Given the description of an element on the screen output the (x, y) to click on. 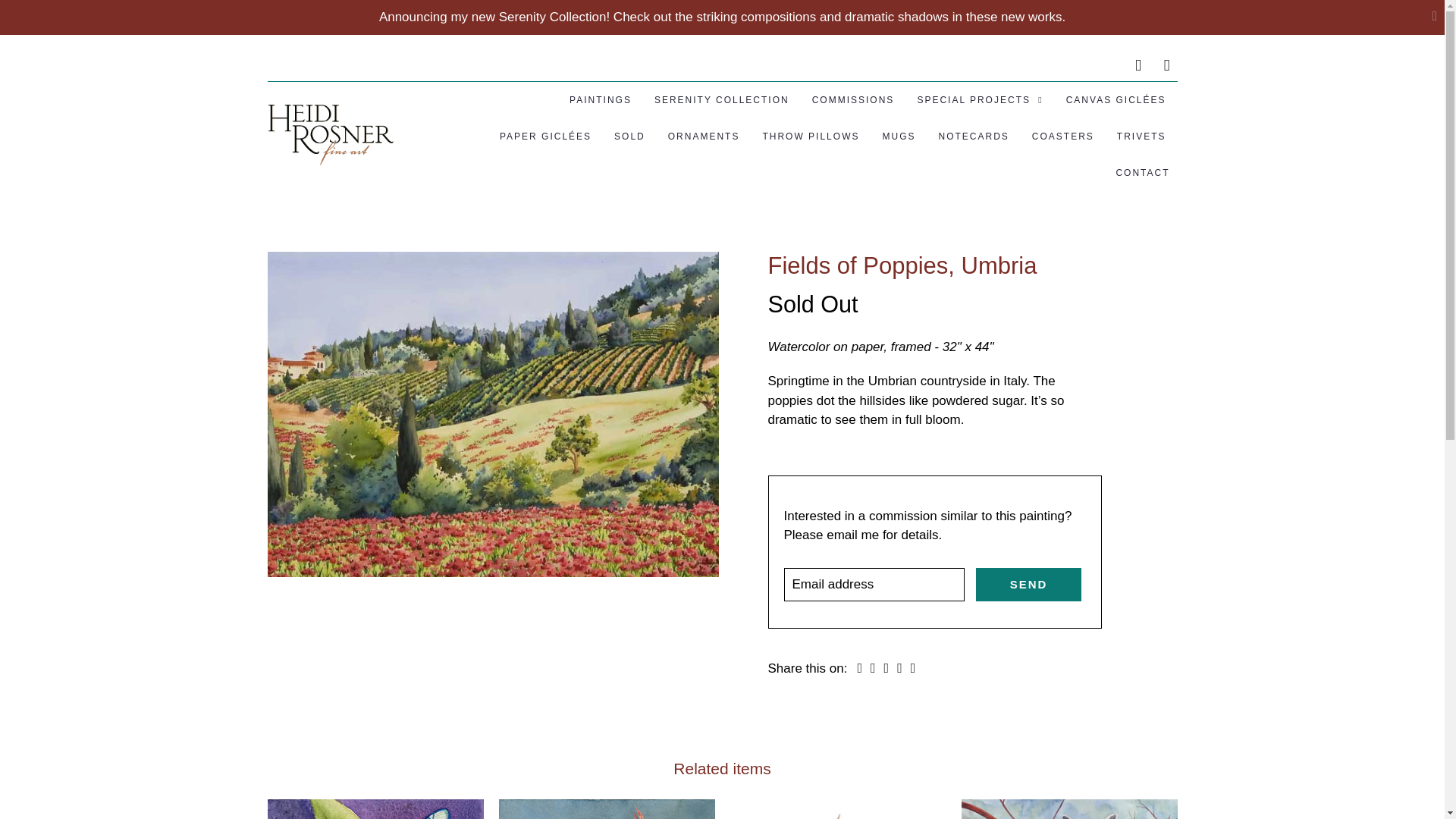
SOLD (629, 135)
COMMISSIONS (853, 99)
PAINTINGS (600, 99)
TRIVETS (1141, 135)
ORNAMENTS (704, 135)
COASTERS (1063, 135)
Share this on Facebook (872, 667)
Search (1137, 65)
Email this to a friend (913, 667)
Share this on Twitter (859, 667)
Share this on Pinterest (886, 667)
NOTECARDS (973, 135)
SERENITY COLLECTION (721, 99)
MUGS (899, 135)
CONTACT (1142, 172)
